Given the description of an element on the screen output the (x, y) to click on. 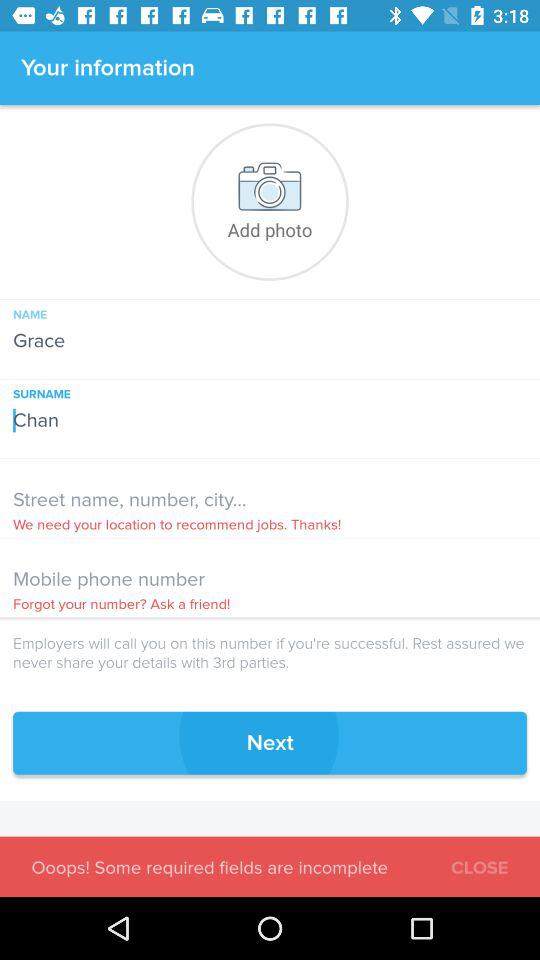
jump until the next icon (269, 742)
